Given the description of an element on the screen output the (x, y) to click on. 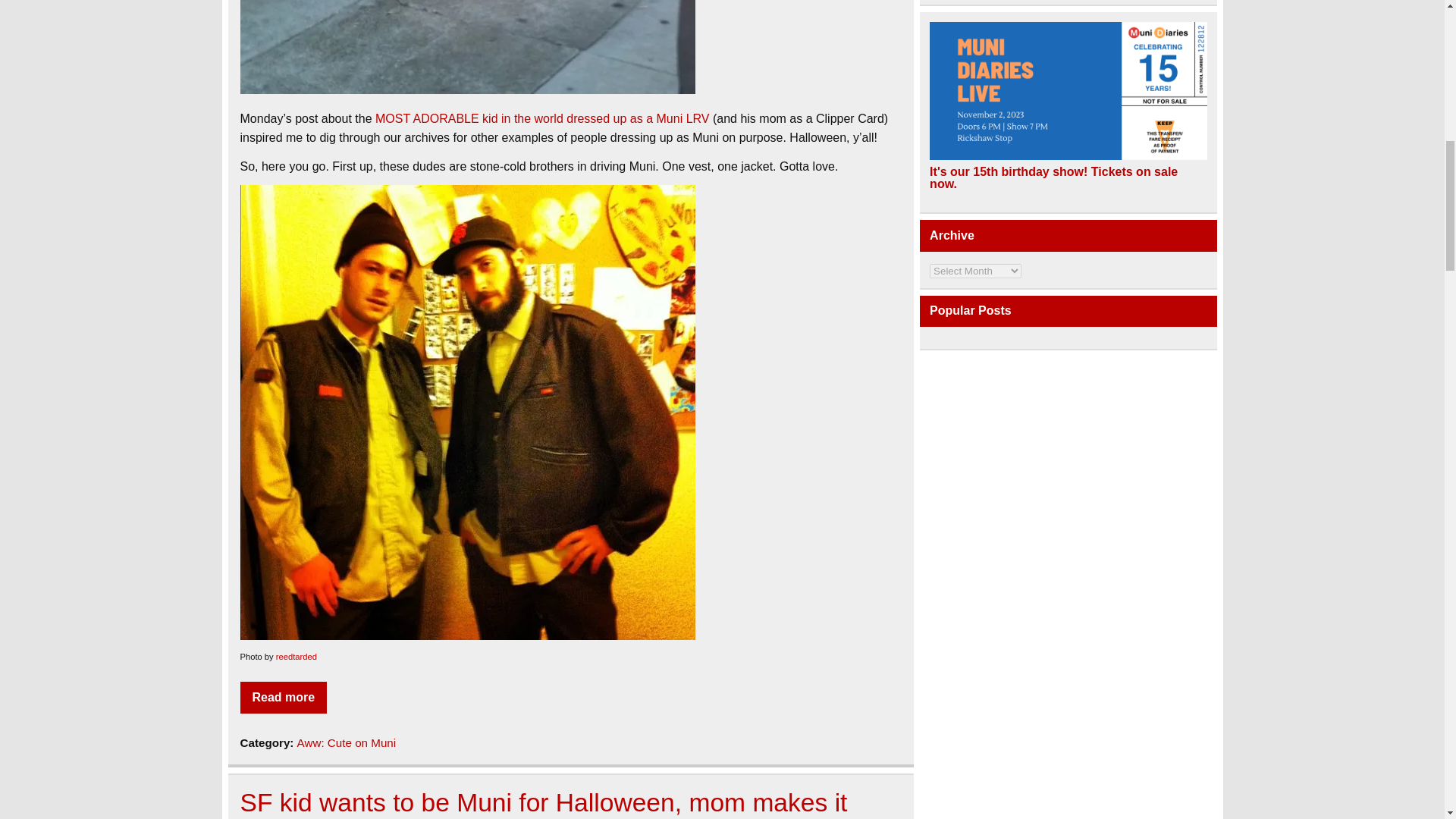
MOST ADORABLE kid in the world dressed up as a Muni LRV (542, 118)
Read more (283, 697)
reedtarded (296, 655)
Aww: Cute on Muni (346, 742)
